Given the description of an element on the screen output the (x, y) to click on. 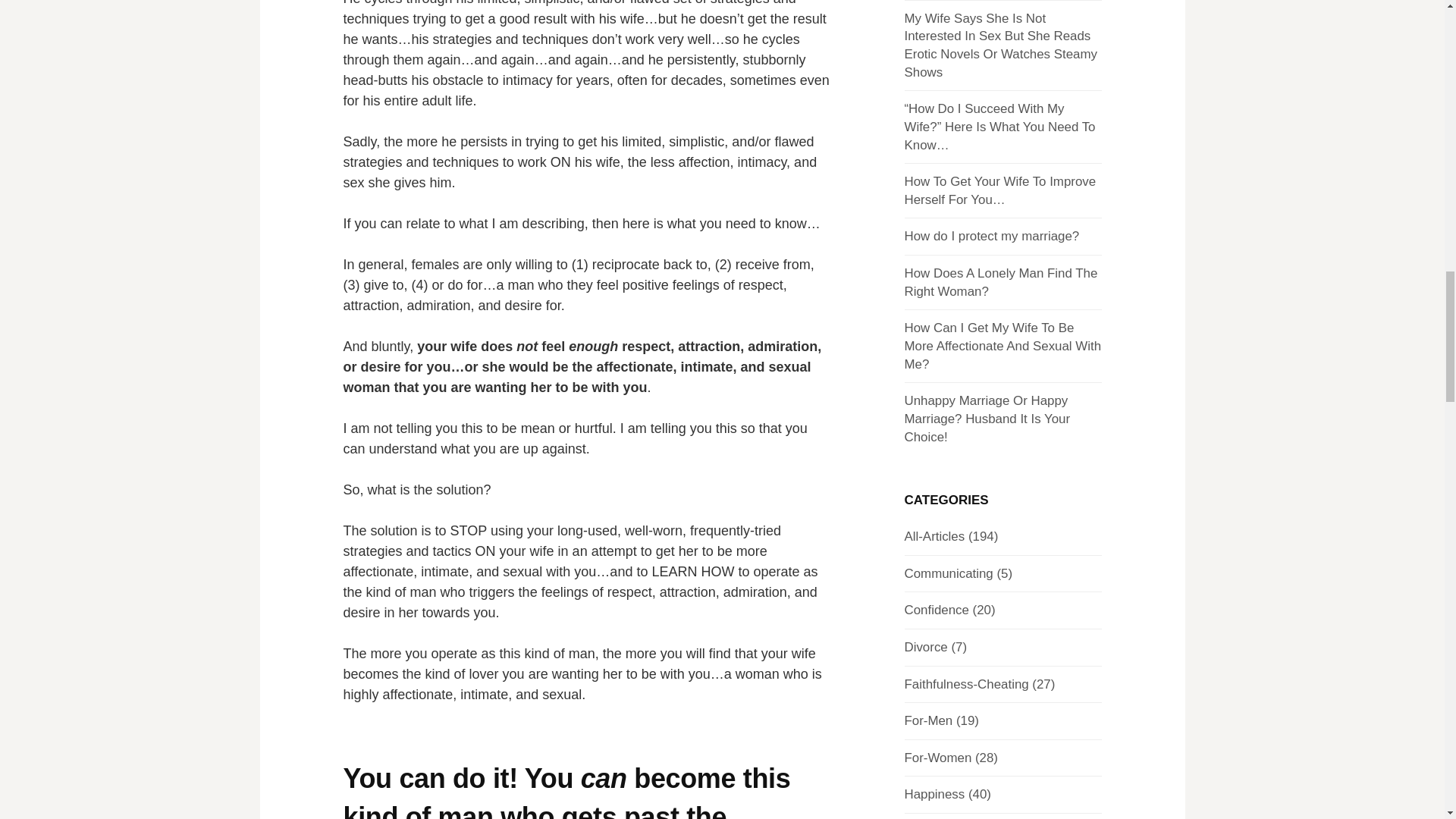
How do I protect my marriage? (991, 236)
How Does A Lonely Man Find The Right Woman? (1000, 282)
